Given the description of an element on the screen output the (x, y) to click on. 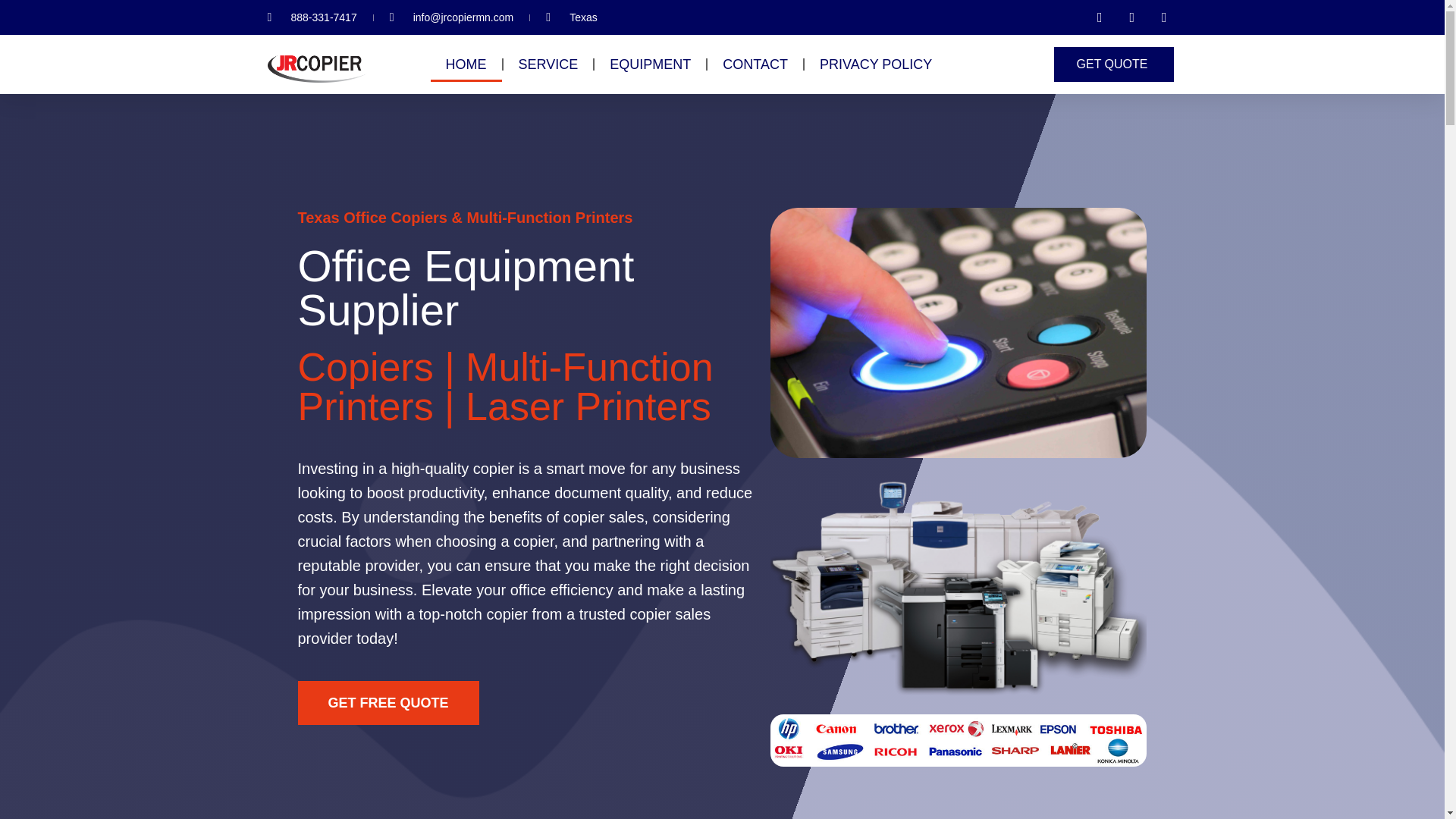
EQUIPMENT (650, 63)
HOME (466, 63)
PRIVACY POLICY (876, 63)
GET FREE QUOTE (388, 702)
SERVICE (548, 63)
CONTACT (755, 63)
GET QUOTE (1114, 63)
